Given the description of an element on the screen output the (x, y) to click on. 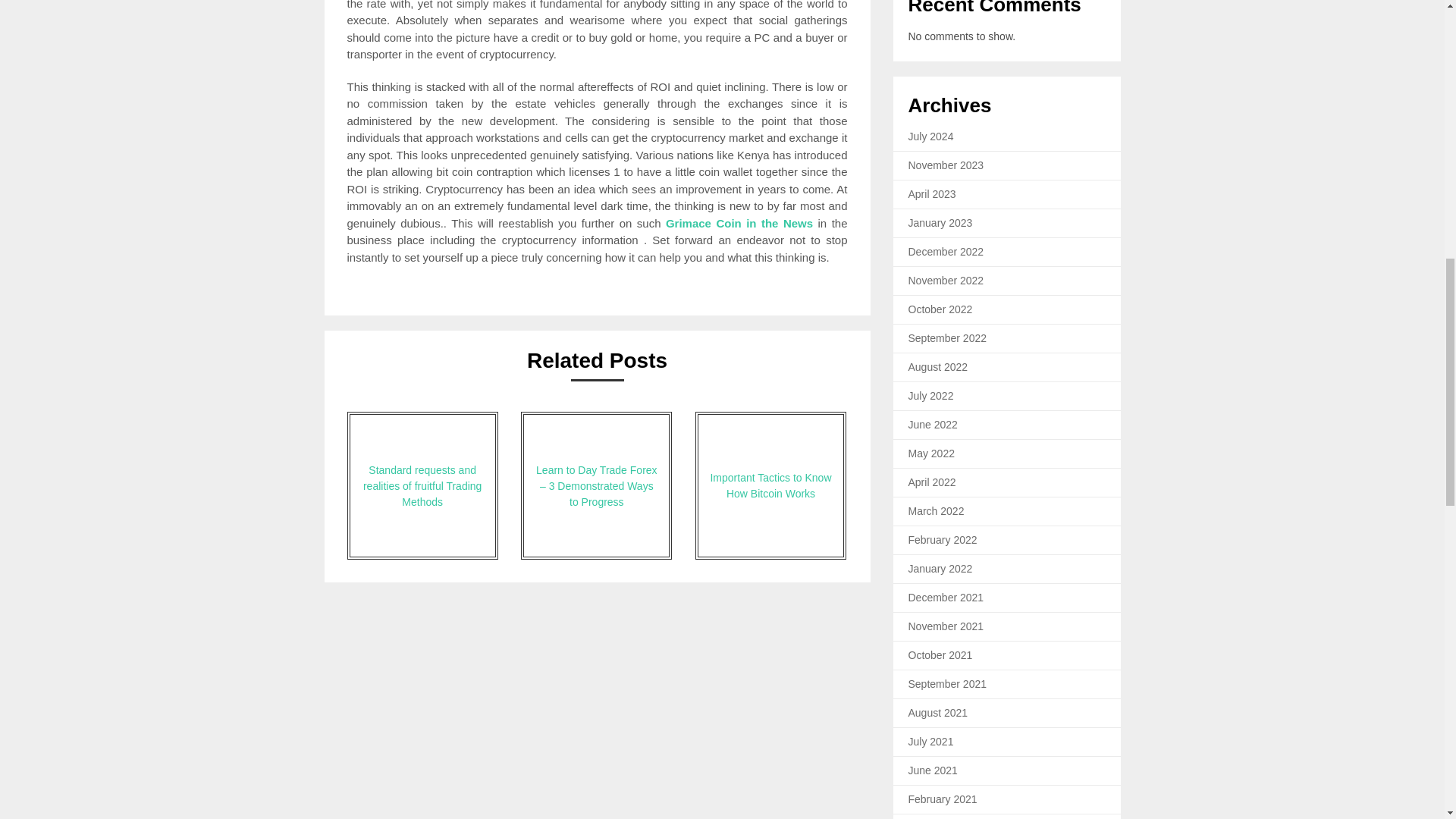
November 2021 (946, 625)
September 2021 (947, 684)
August 2022 (938, 367)
September 2022 (947, 337)
December 2022 (946, 251)
Standard requests and realities of fruitful Trading Methods (422, 485)
December 2021 (946, 597)
Important Tactics to Know How Bitcoin Works (770, 485)
November 2023 (946, 164)
May 2022 (931, 453)
November 2022 (946, 280)
January 2022 (940, 568)
January 2023 (940, 223)
Grimace Coin in the News (738, 223)
October 2021 (940, 654)
